Given the description of an element on the screen output the (x, y) to click on. 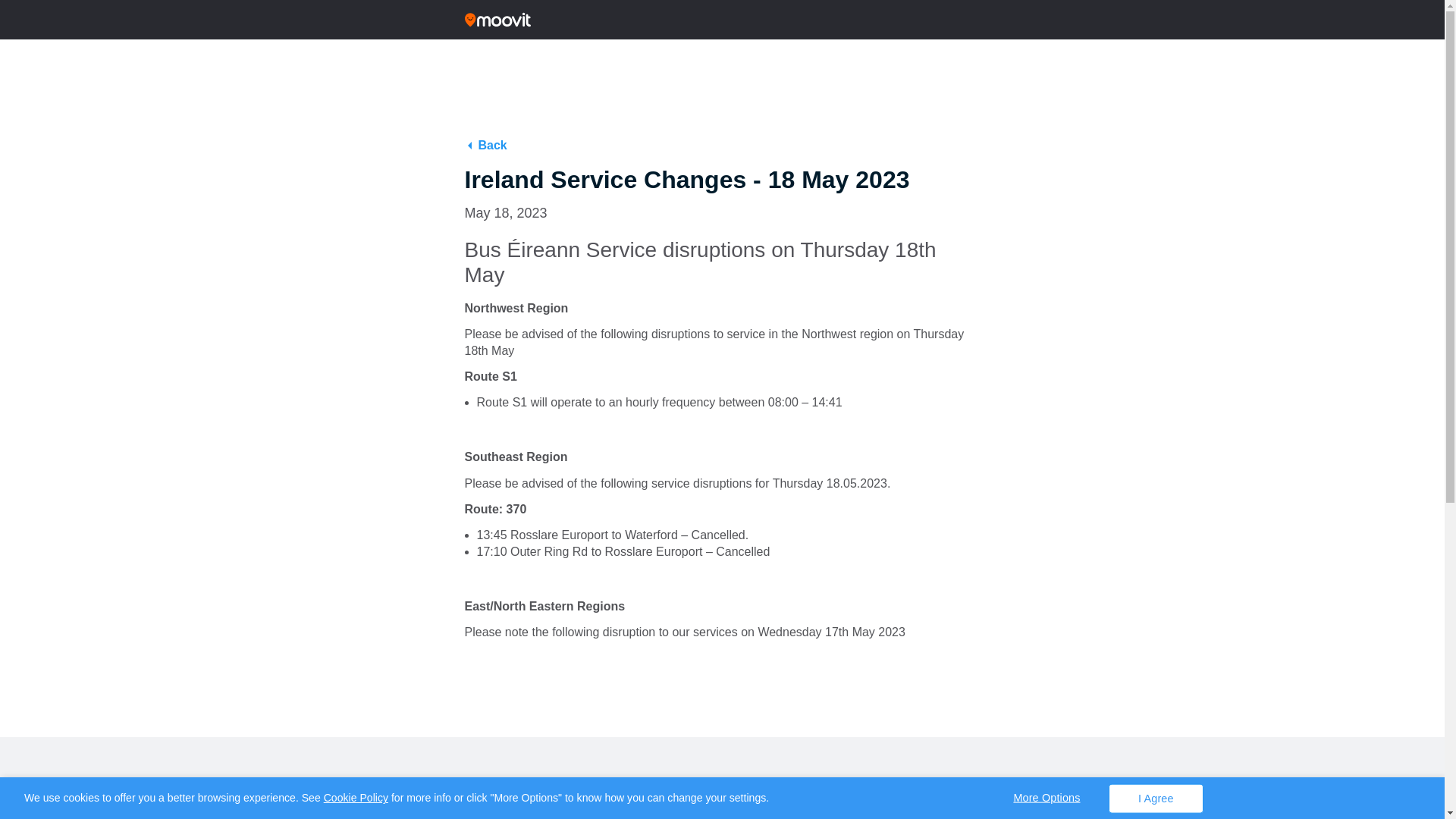
Back (485, 144)
Moovit Updates (496, 19)
Moovit Updates (721, 19)
I Agree (1156, 797)
More Options (1046, 796)
Cookie Policy (355, 797)
